Given the description of an element on the screen output the (x, y) to click on. 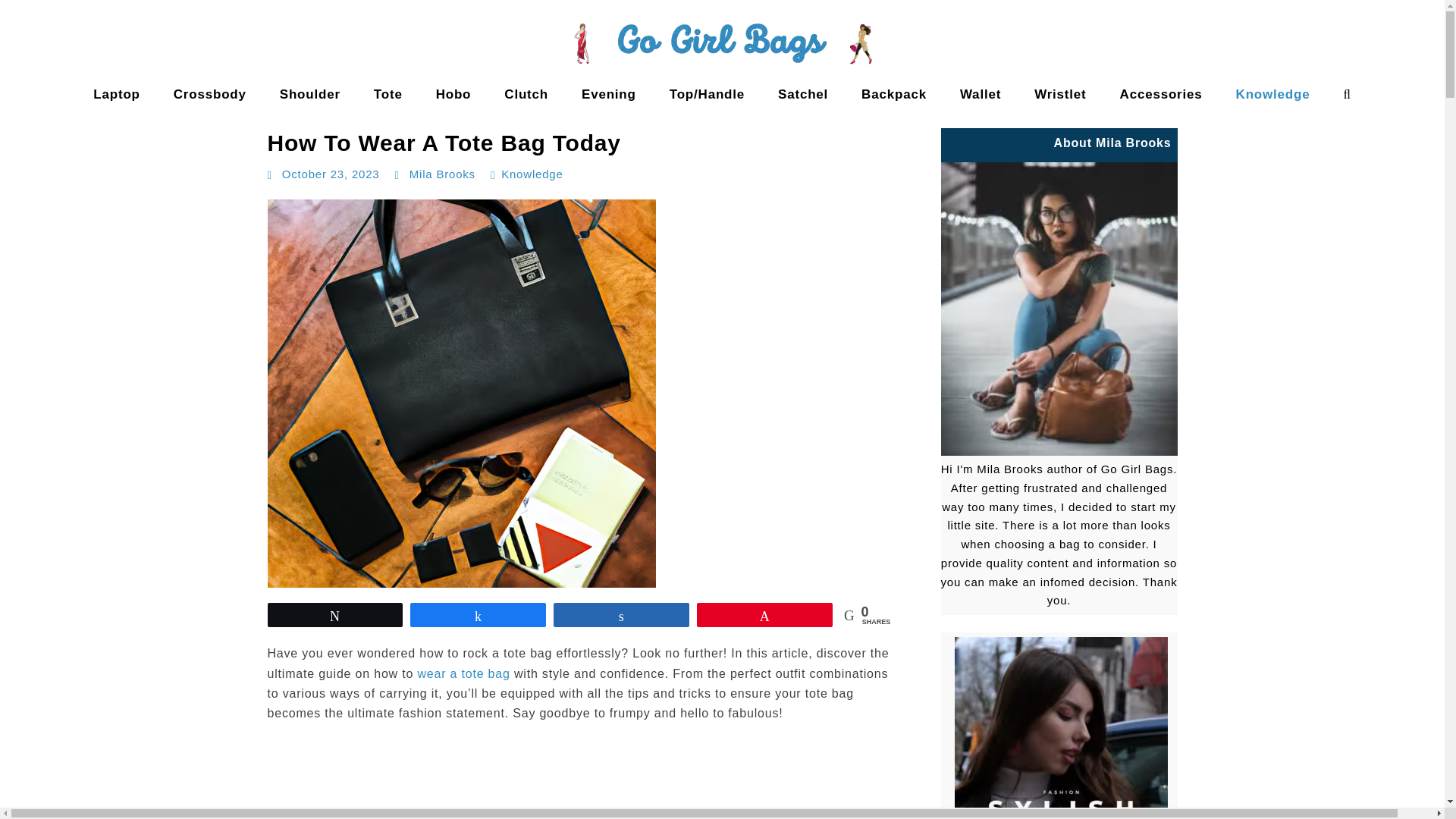
Laptop (116, 94)
Backpack (893, 94)
Go Girl Bags (50, 109)
Hobo (453, 94)
Tote (387, 94)
Clutch (525, 94)
Mila Brooks (442, 173)
Satchel (802, 94)
Wristlet (1059, 94)
Accessories (1161, 94)
Crossbody (210, 94)
Knowledge (531, 173)
Wallet (980, 94)
Shoulder (309, 94)
